Given the description of an element on the screen output the (x, y) to click on. 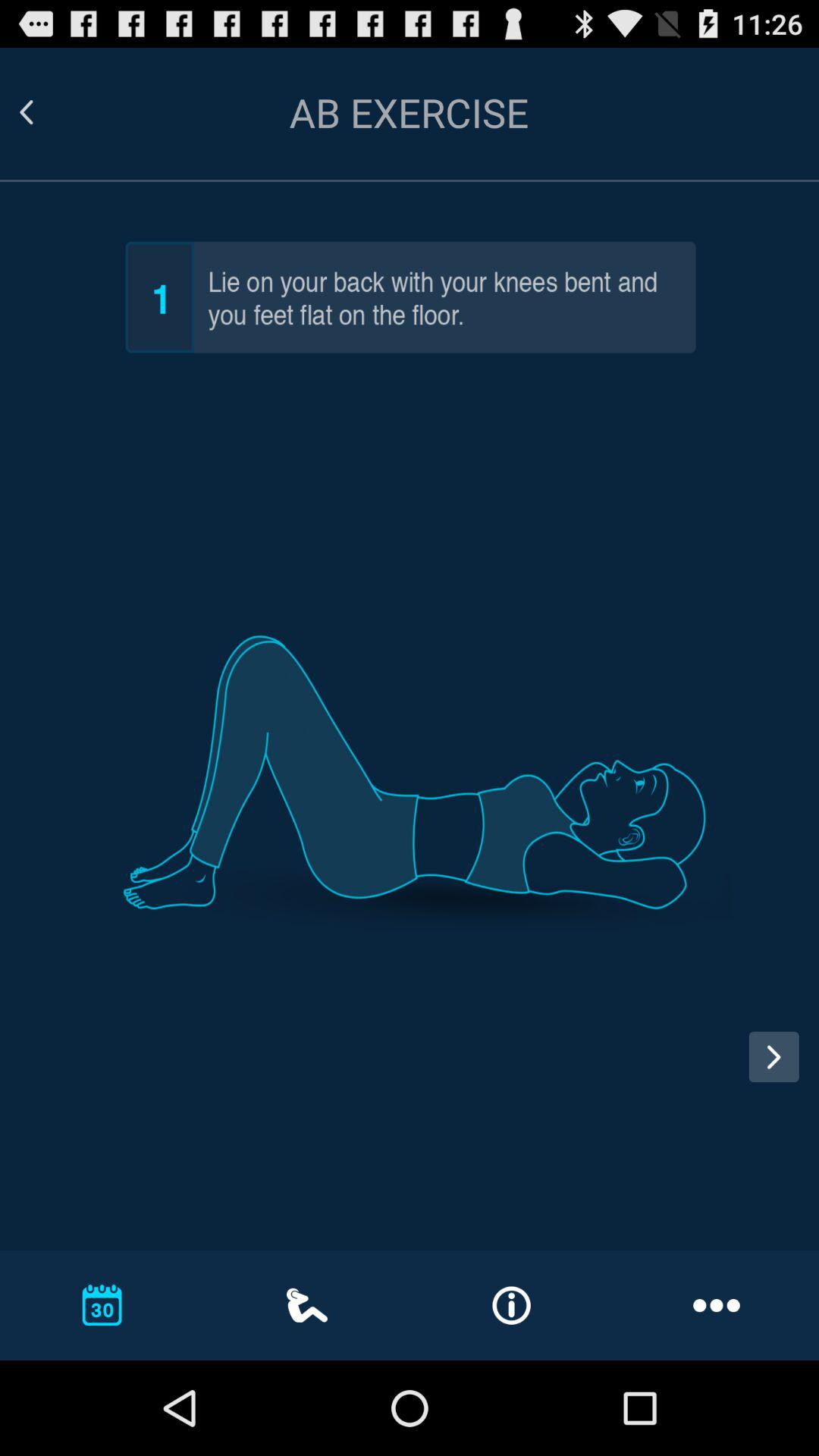
go back (44, 112)
